Given the description of an element on the screen output the (x, y) to click on. 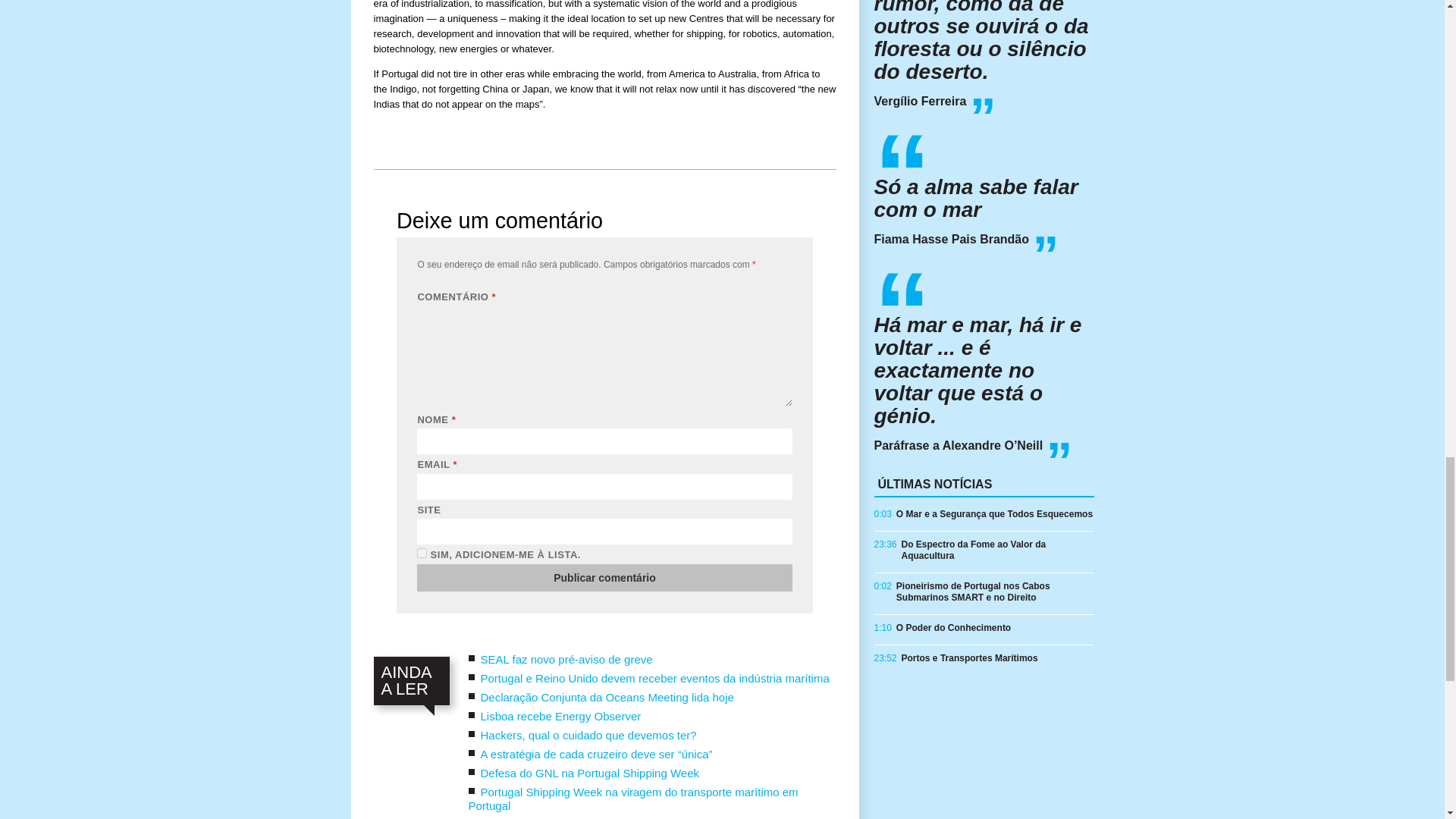
Defesa do GNL na Portugal Shipping Week (590, 772)
1 (421, 552)
Defesa do GNL na Portugal Shipping Week (590, 772)
Lisboa recebe Energy Observer (561, 716)
Hackers, qual o cuidado que devemos ter? (588, 735)
Lisboa recebe Energy Observer (561, 716)
Hackers, qual o cuidado que devemos ter? (588, 735)
